Given the description of an element on the screen output the (x, y) to click on. 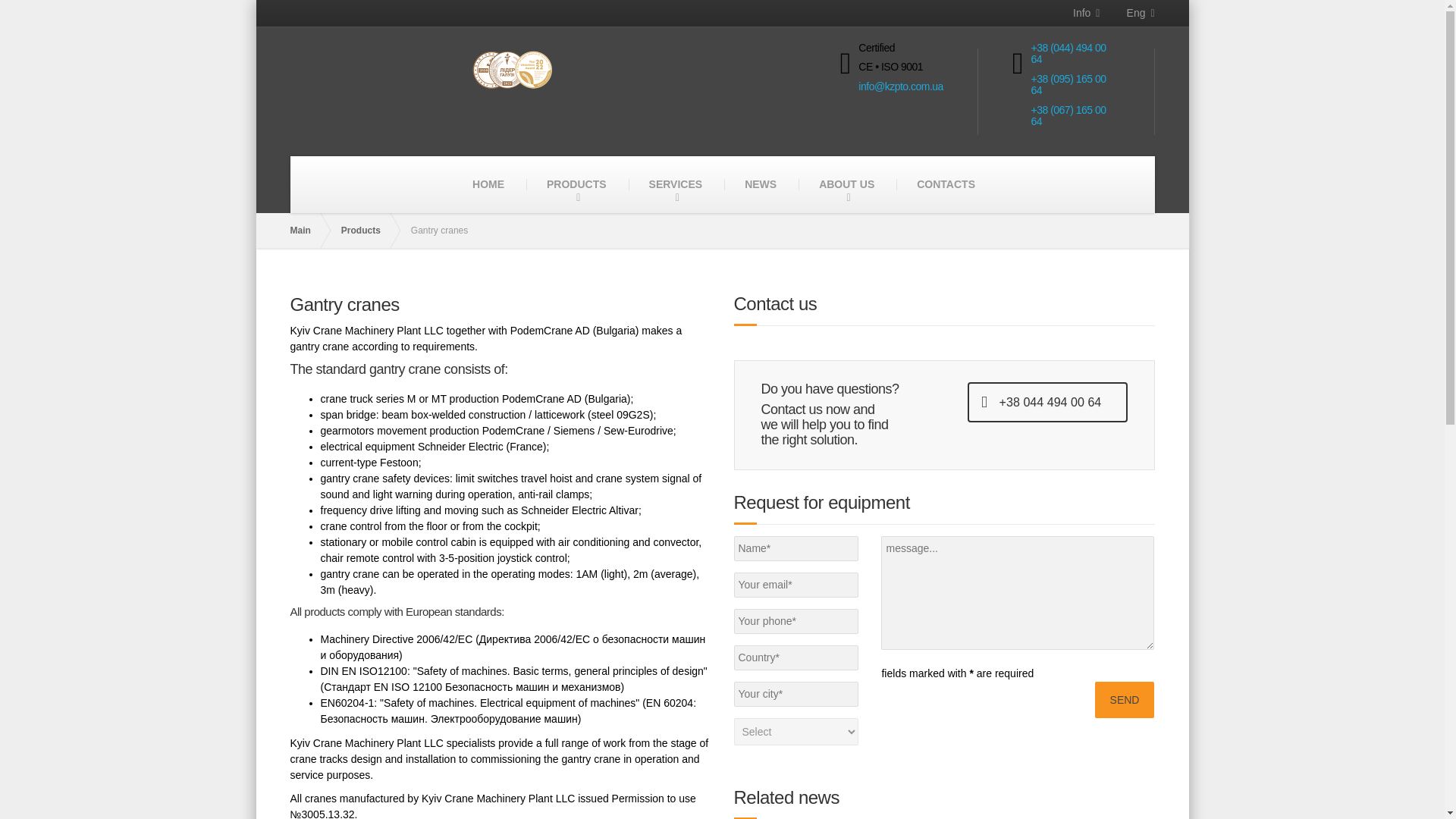
Eng (1126, 13)
CONTACTS (945, 184)
NEWS (760, 184)
Info (1080, 13)
Main (306, 230)
Products (368, 230)
HOME (488, 184)
SEND (1124, 699)
PRODUCTS (576, 184)
ABOUT US (846, 184)
